Given the description of an element on the screen output the (x, y) to click on. 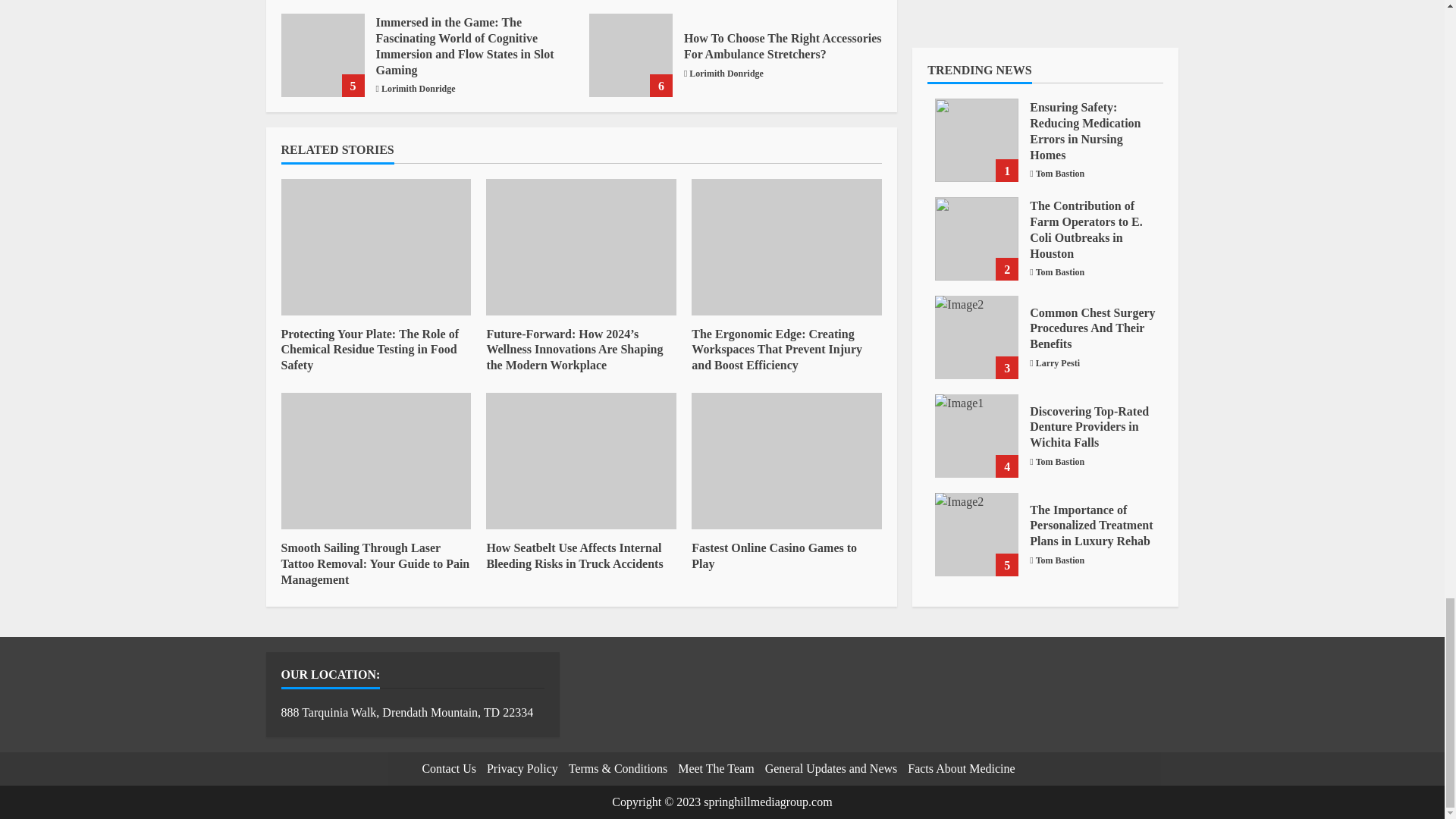
Lorimith Donridge (418, 88)
